Given the description of an element on the screen output the (x, y) to click on. 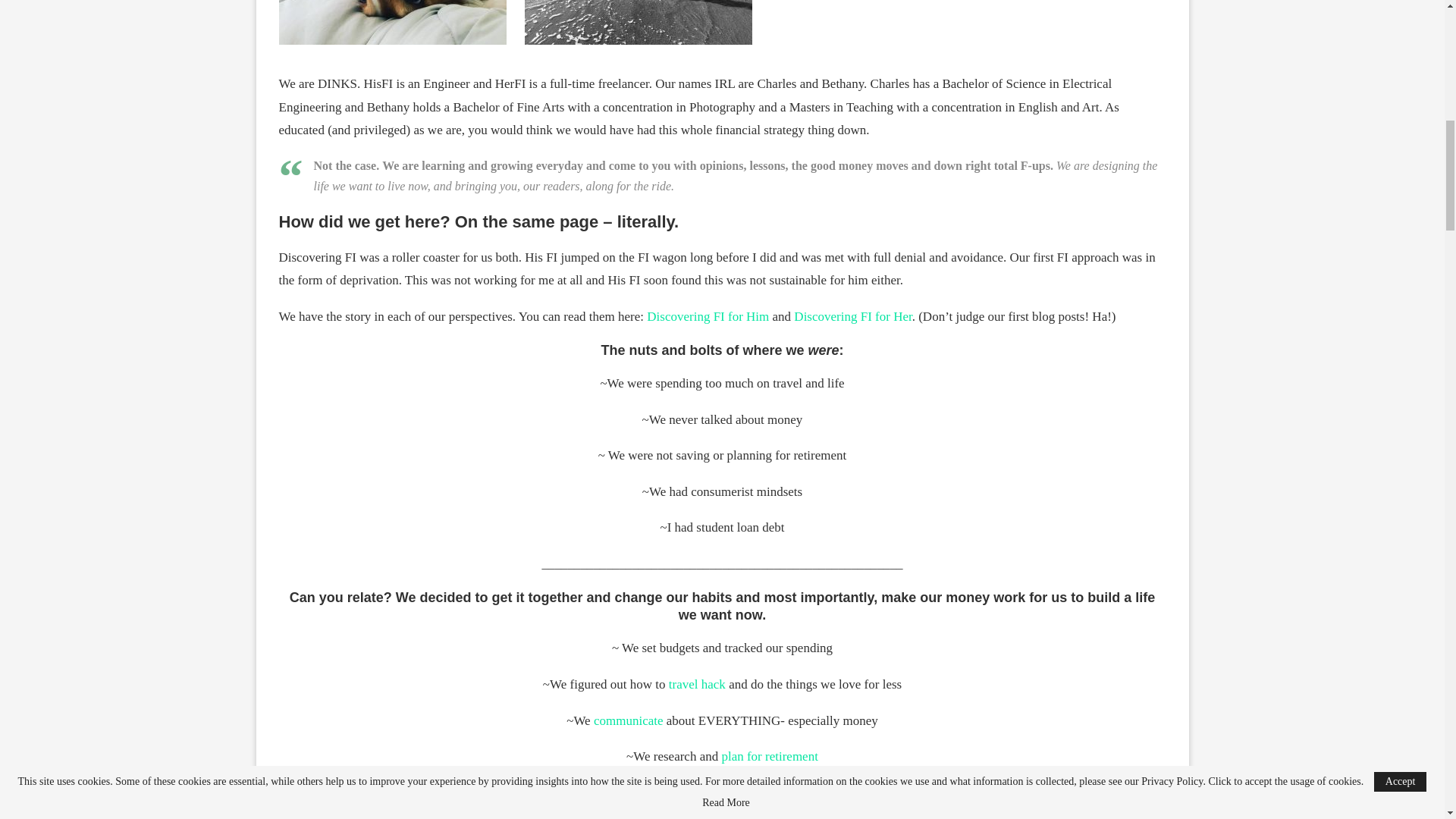
Discovering FI for Him (707, 316)
plan for retirement (768, 756)
communicate (628, 720)
changing our mindsets (759, 792)
Discovering FI for Her (852, 316)
travel hack (696, 684)
